Given the description of an element on the screen output the (x, y) to click on. 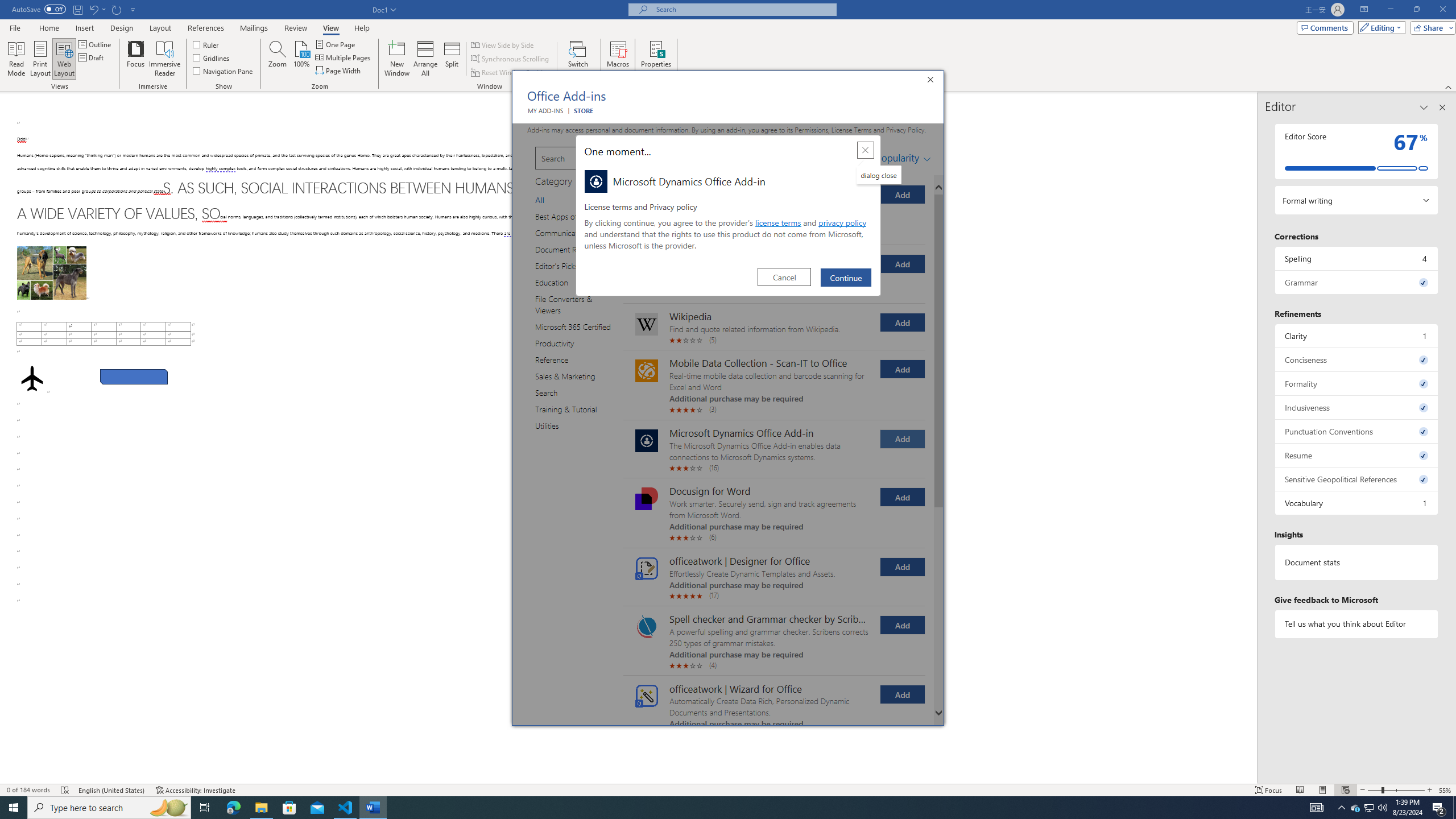
Ruler (206, 44)
Page Width (338, 69)
Zoom... (276, 58)
Document statistics (1356, 561)
New Window (396, 58)
Grammar, 0 issues. Press space or enter to review items. (1356, 282)
Focus (135, 58)
